Given the description of an element on the screen output the (x, y) to click on. 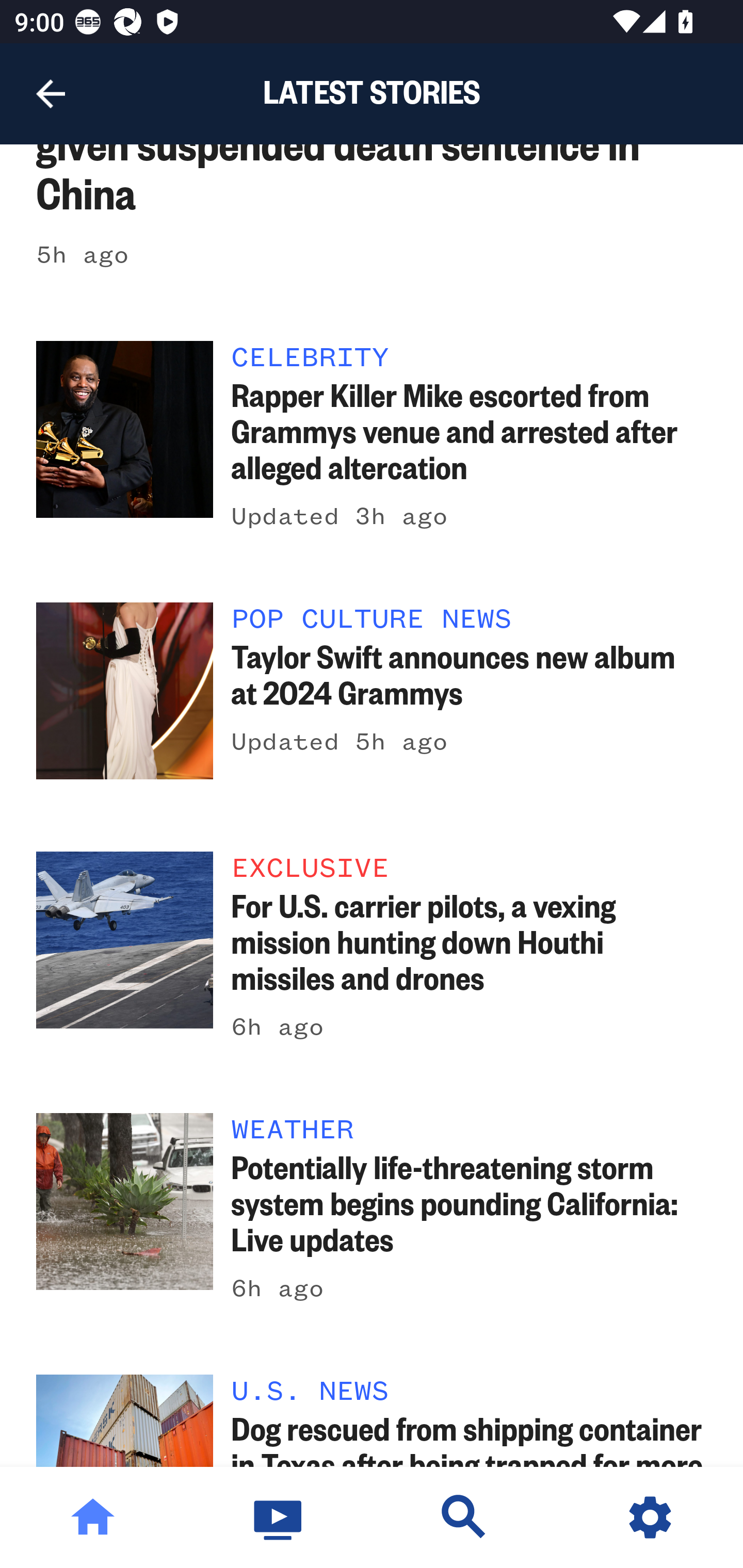
Navigate up (50, 93)
Watch (278, 1517)
Discover (464, 1517)
Settings (650, 1517)
